Given the description of an element on the screen output the (x, y) to click on. 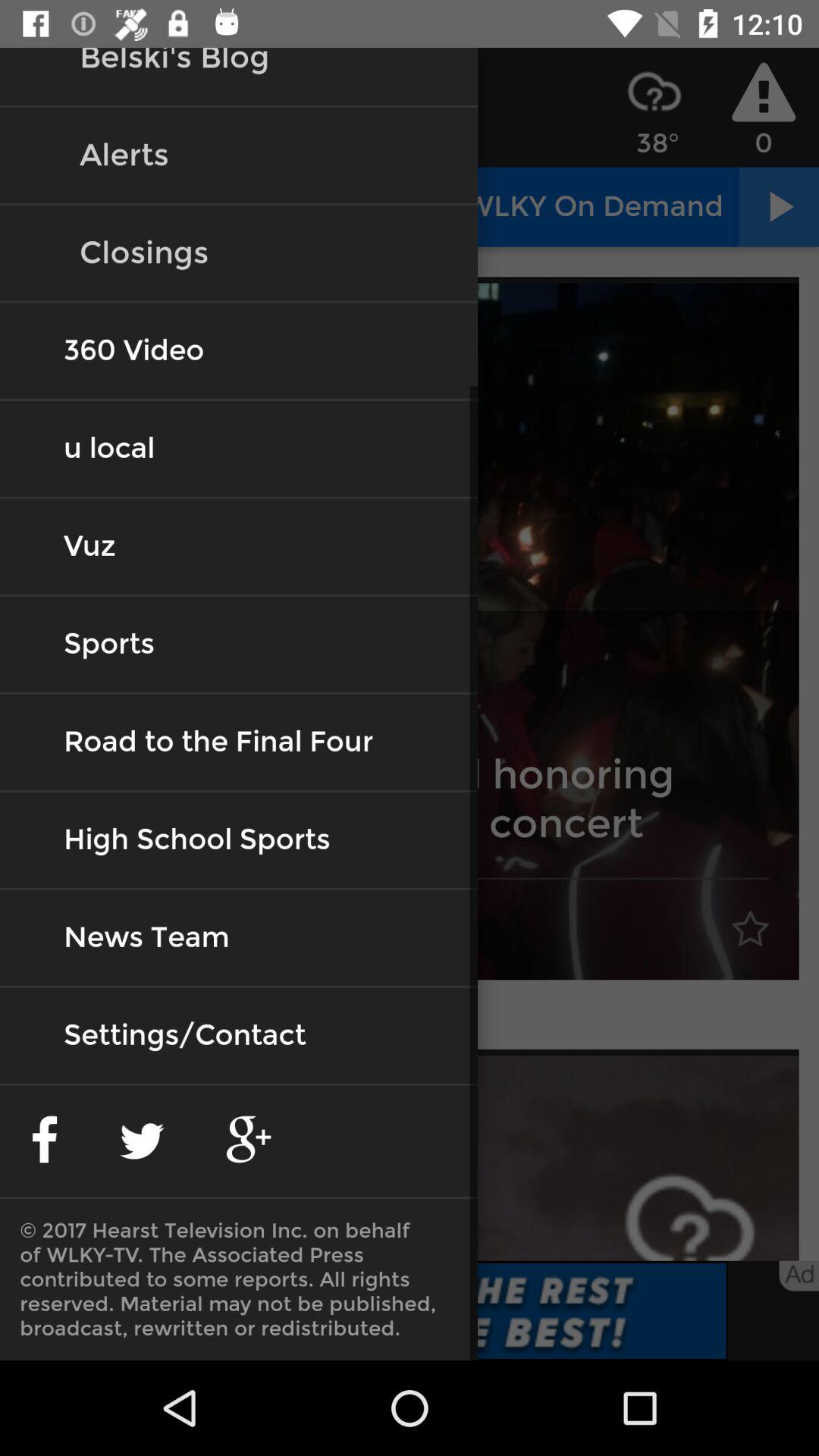
click the play icon after demand (778, 206)
